Given the description of an element on the screen output the (x, y) to click on. 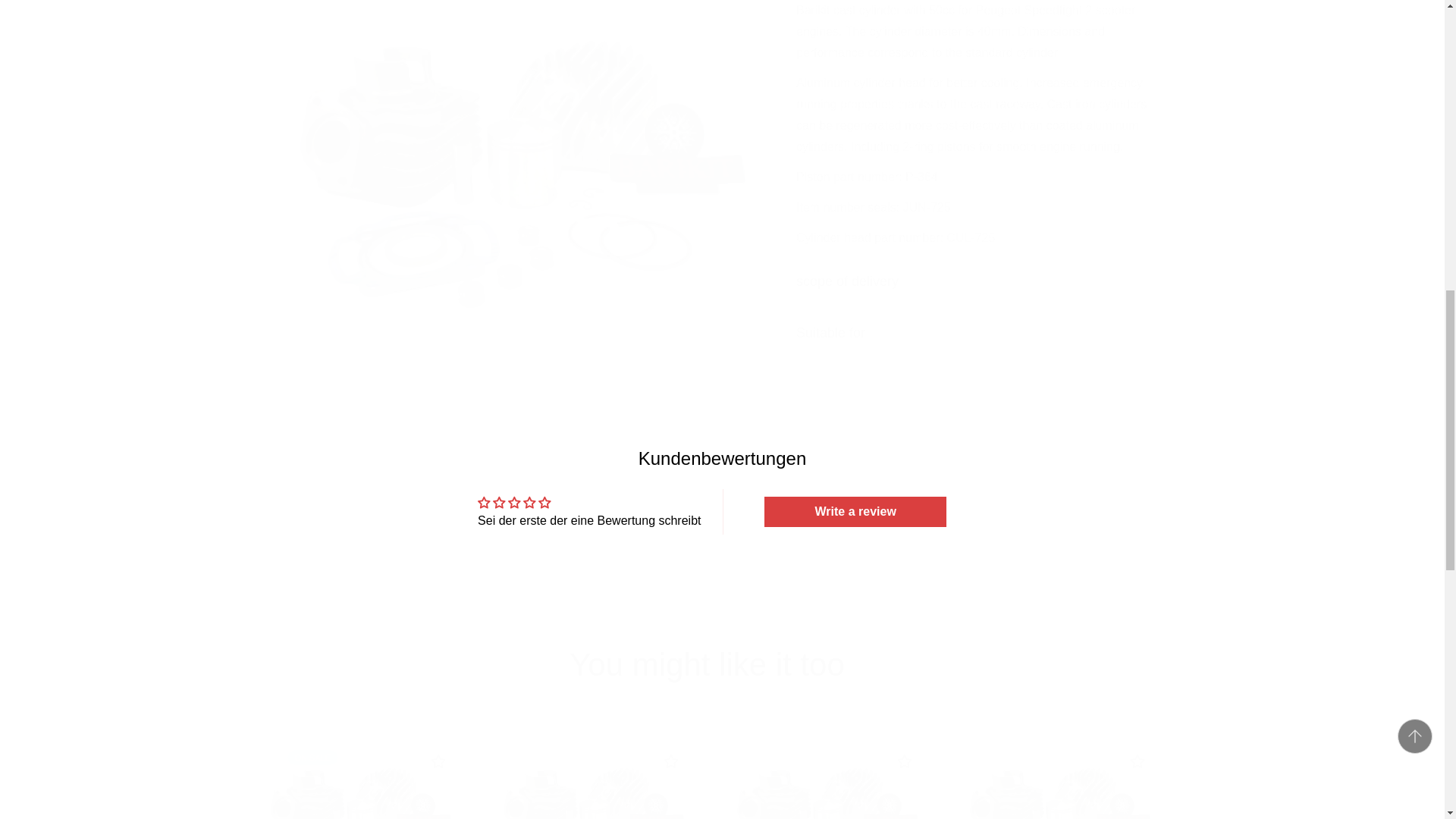
You might like it too (706, 665)
